Given the description of an element on the screen output the (x, y) to click on. 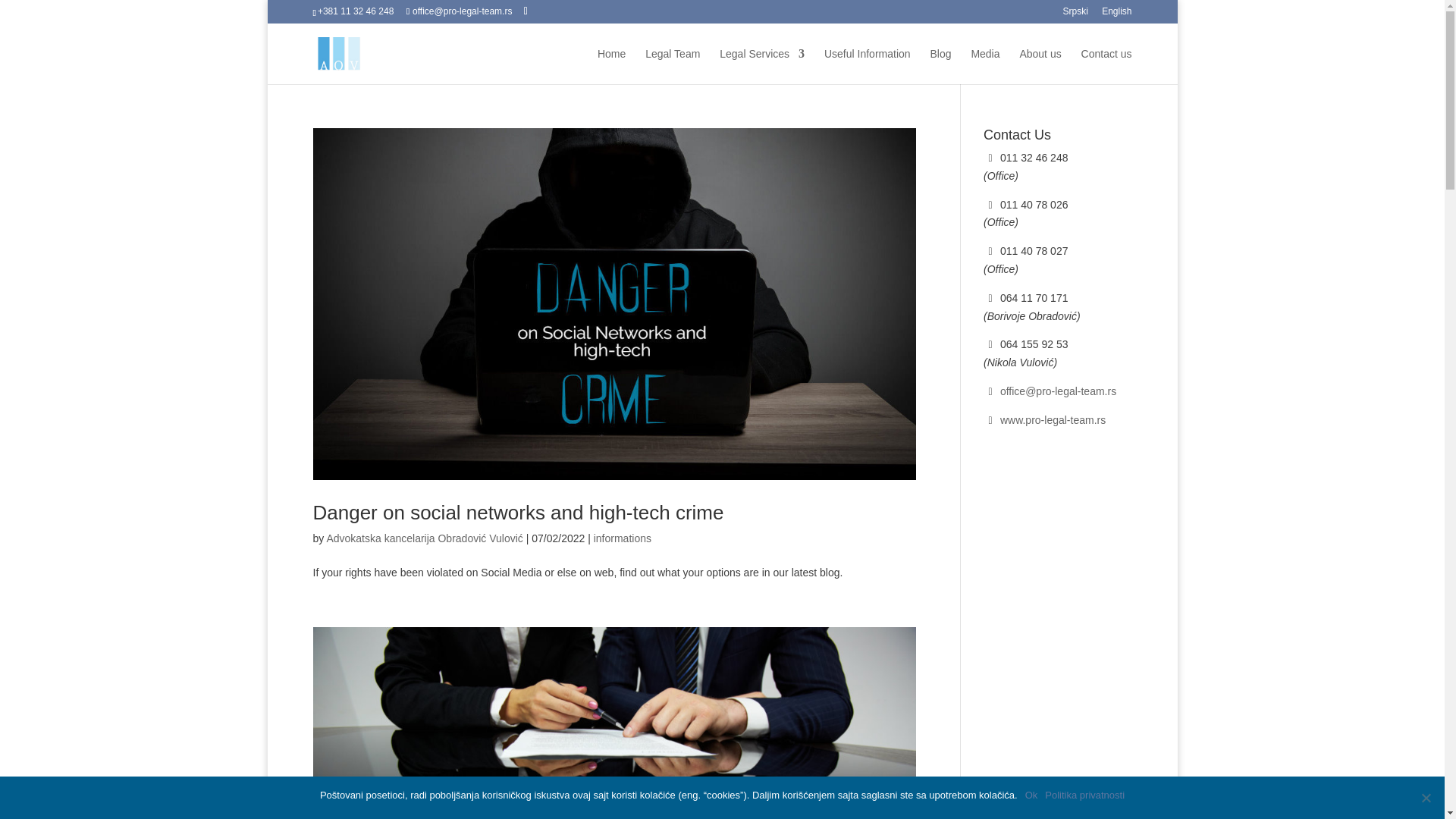
English (1116, 14)
Ne prihvatam (1425, 797)
Srpski (1074, 14)
About us (1040, 66)
Legal Services (762, 66)
Legal Team (672, 66)
Useful Information (867, 66)
Contact us (1106, 66)
